Given the description of an element on the screen output the (x, y) to click on. 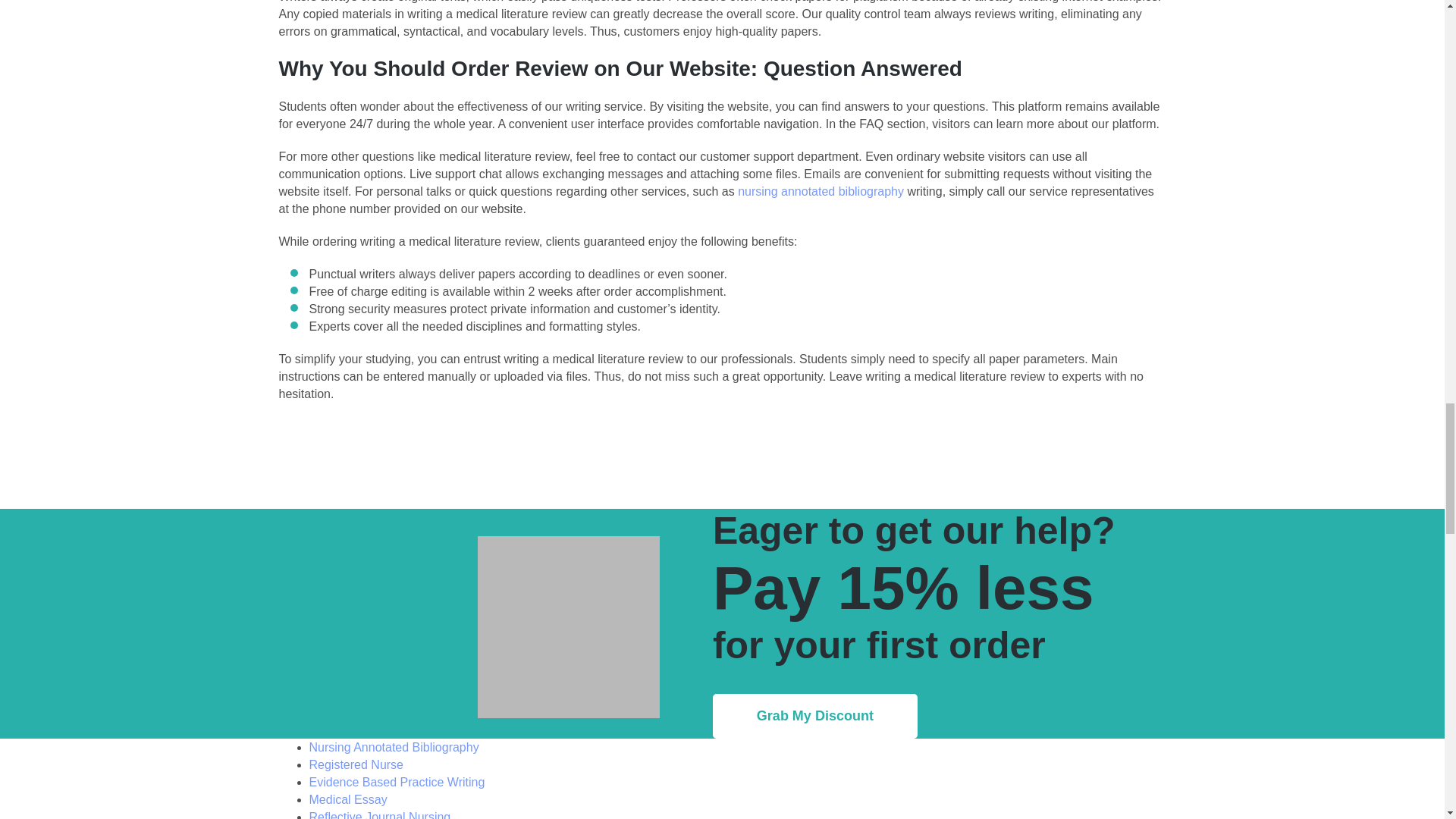
Grab My Discount (815, 715)
Registered Nurse (356, 764)
Medical Essay (347, 799)
Evidence Based Practice Writing (396, 781)
Reflective Journal Nursing (379, 814)
Nursing Annotated Bibliography (393, 747)
nursing annotated bibliography (821, 191)
